Given the description of an element on the screen output the (x, y) to click on. 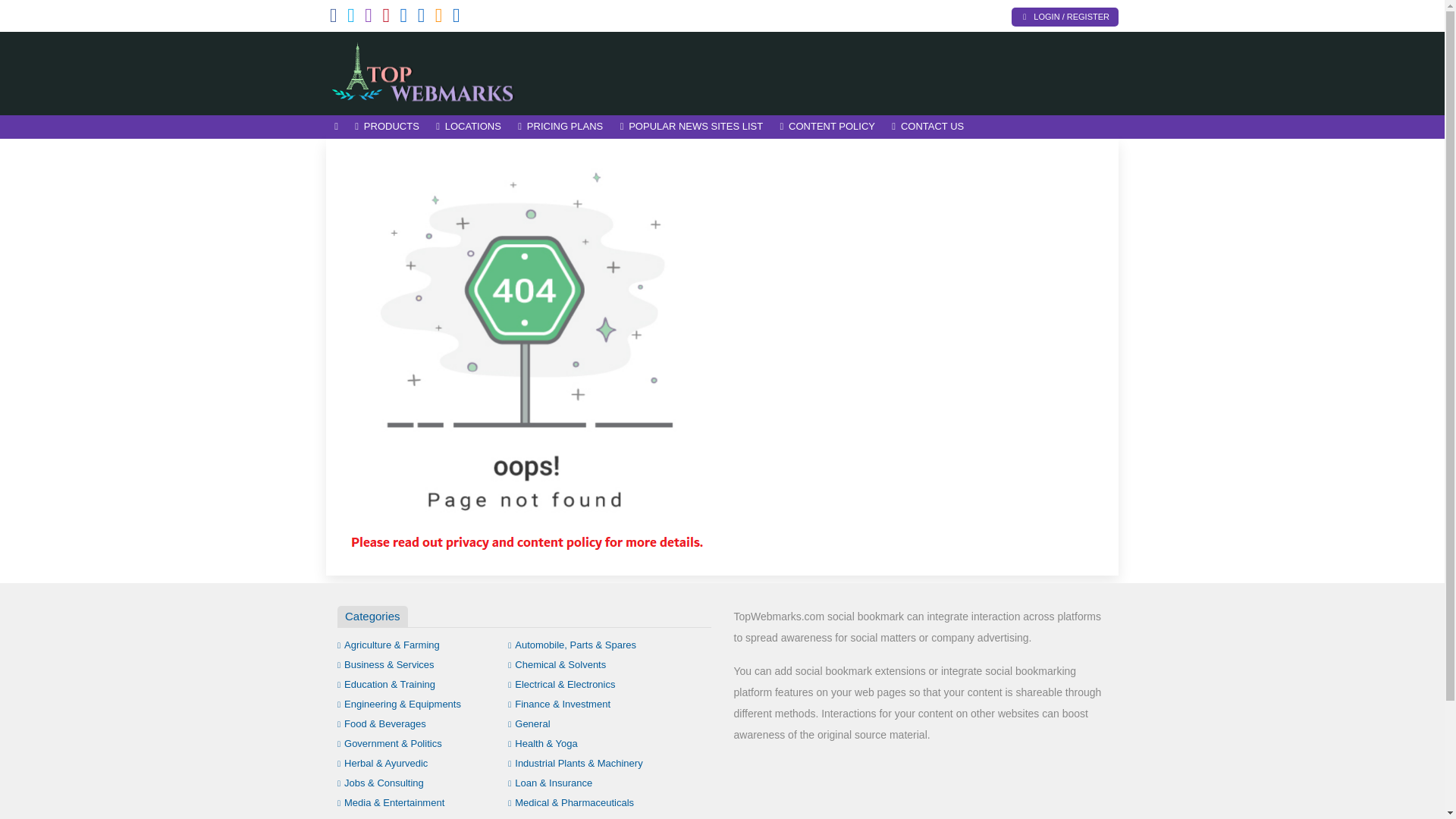
General (529, 723)
PRICING PLANS (560, 126)
CONTACT US (927, 126)
POPULAR NEWS SITES LIST (691, 126)
CONTENT POLICY (827, 126)
PRODUCTS (387, 126)
LOCATIONS (468, 126)
